Given the description of an element on the screen output the (x, y) to click on. 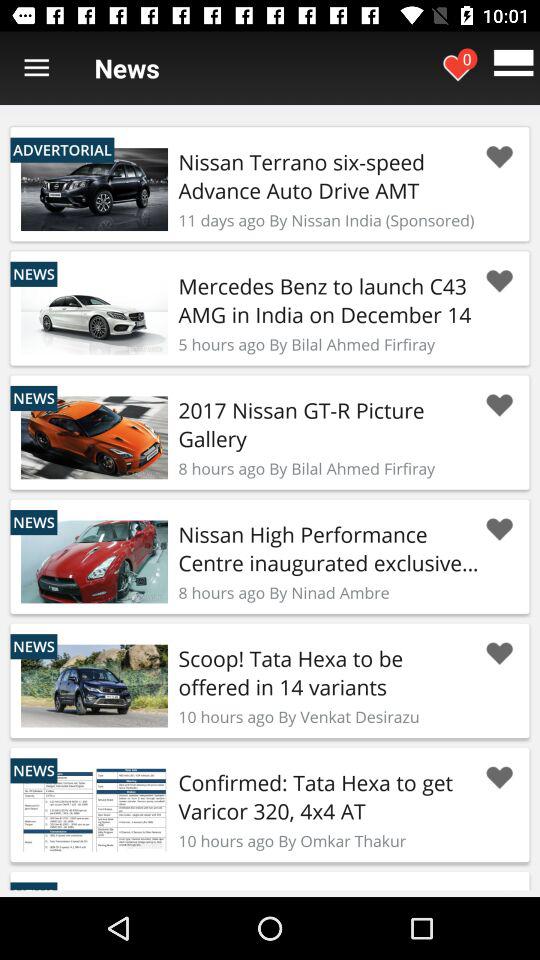
favorite this car (499, 281)
